Given the description of an element on the screen output the (x, y) to click on. 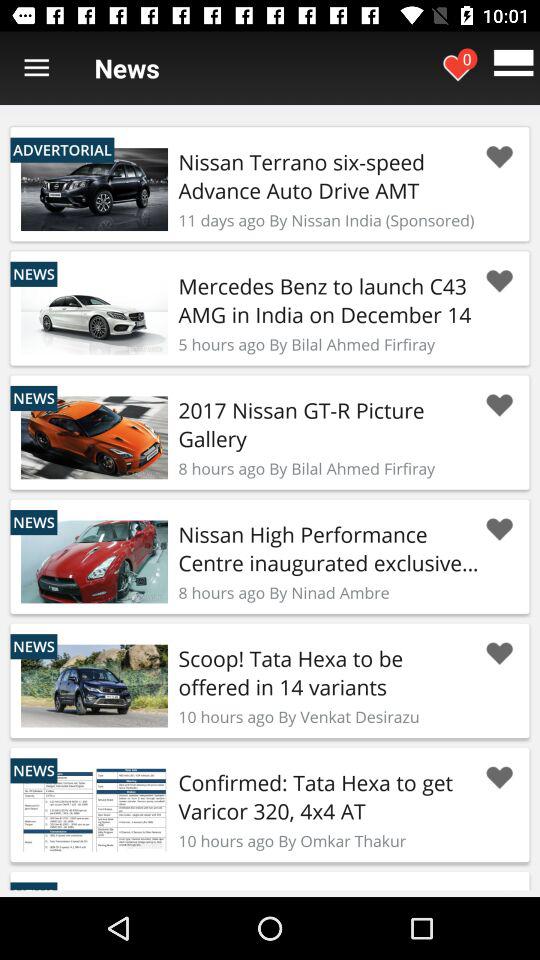
favorite this car (499, 281)
